Given the description of an element on the screen output the (x, y) to click on. 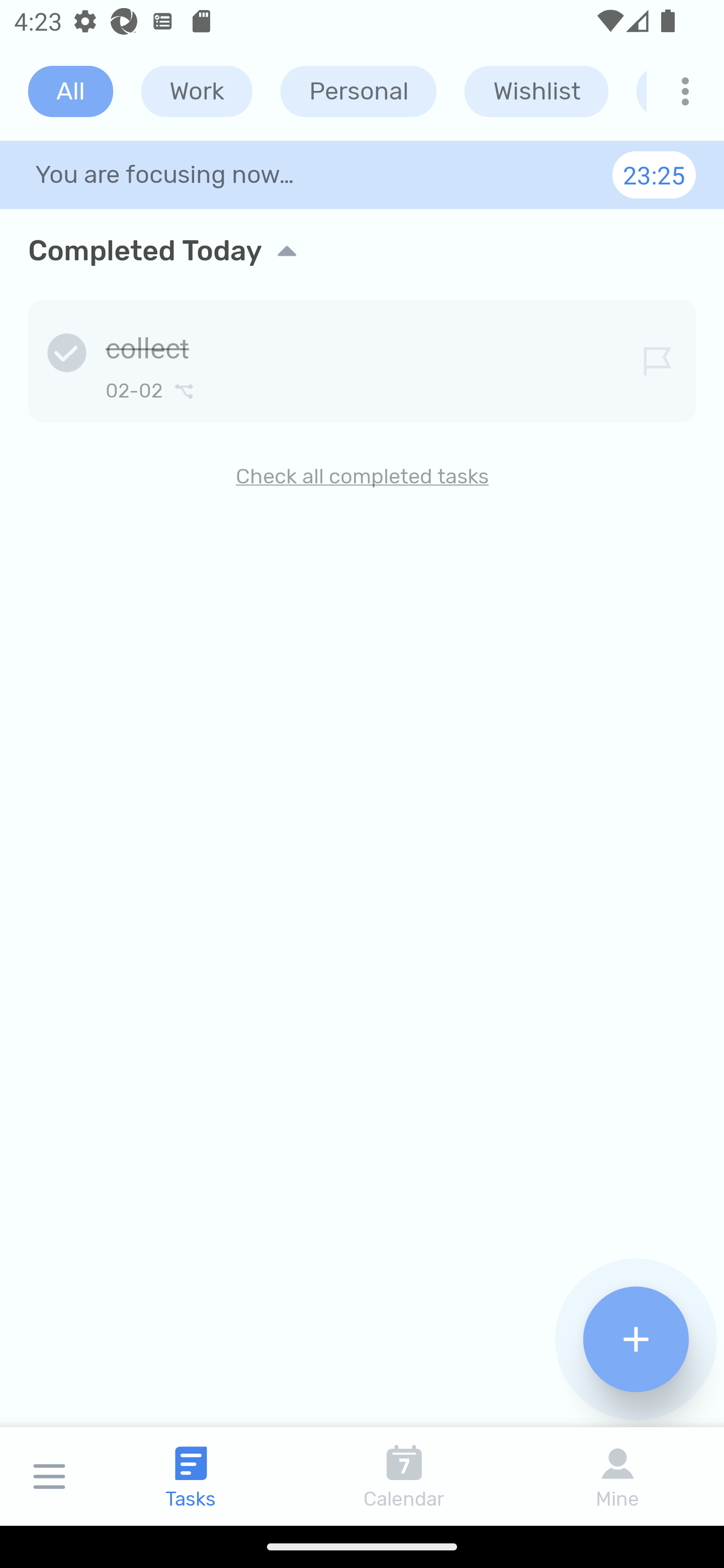
All (70, 91)
Work (196, 91)
Personal (358, 91)
Wishlist (536, 91)
You are focusing now… 23:25 (362, 174)
Completed Today (362, 250)
collect 02-02 (362, 358)
Check all completed tasks (361, 476)
Tasks (190, 1475)
Calendar (404, 1475)
Mine (617, 1475)
